Given the description of an element on the screen output the (x, y) to click on. 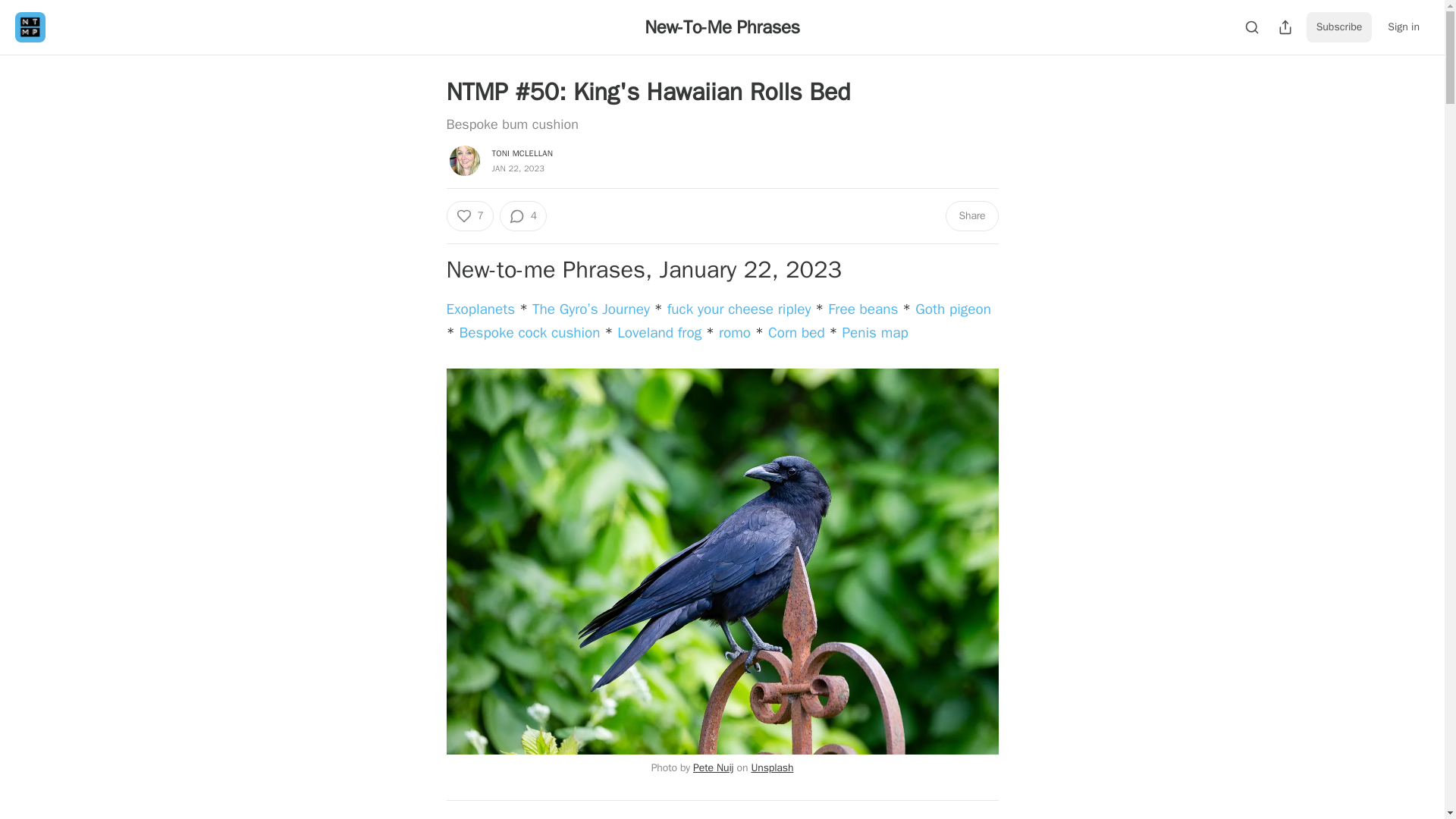
TONI MCLELLAN (522, 153)
romo (735, 331)
Unsplash (772, 767)
Goth pigeon (953, 309)
4 (523, 215)
Corn bed (796, 331)
Free beans (863, 309)
Subscribe (1339, 27)
Bespoke cock cushion (529, 331)
7 (469, 215)
